Given the description of an element on the screen output the (x, y) to click on. 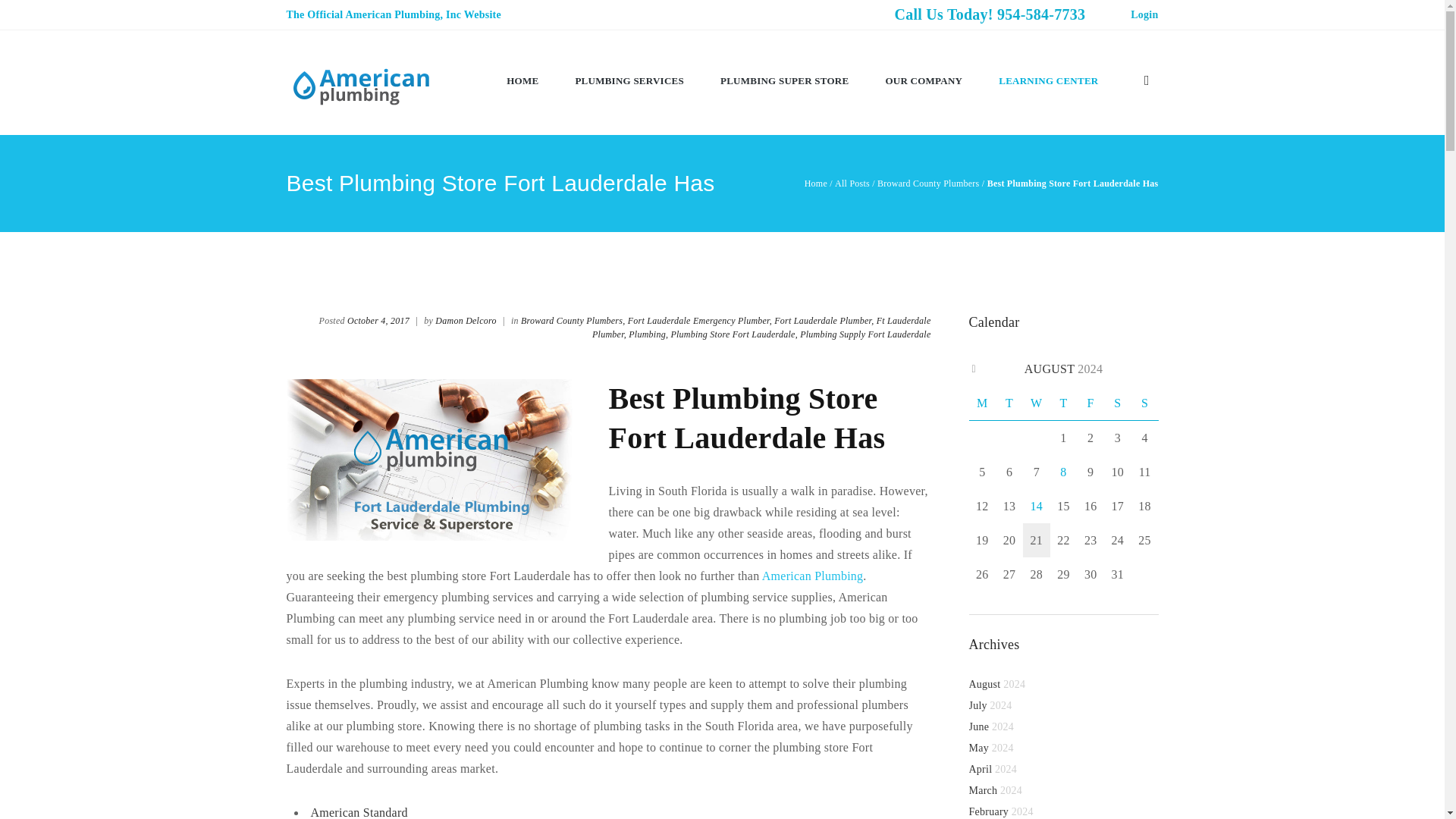
OUR COMPANY (922, 79)
PLUMBING SERVICES (628, 79)
LEARNING CENTER (1047, 79)
Login (1144, 14)
Plumbing Store Fort Lauderdale (612, 810)
HOME (521, 79)
Call Us Today! 954-584-7733 (988, 26)
PLUMBING SUPER STORE (783, 79)
